Given the description of an element on the screen output the (x, y) to click on. 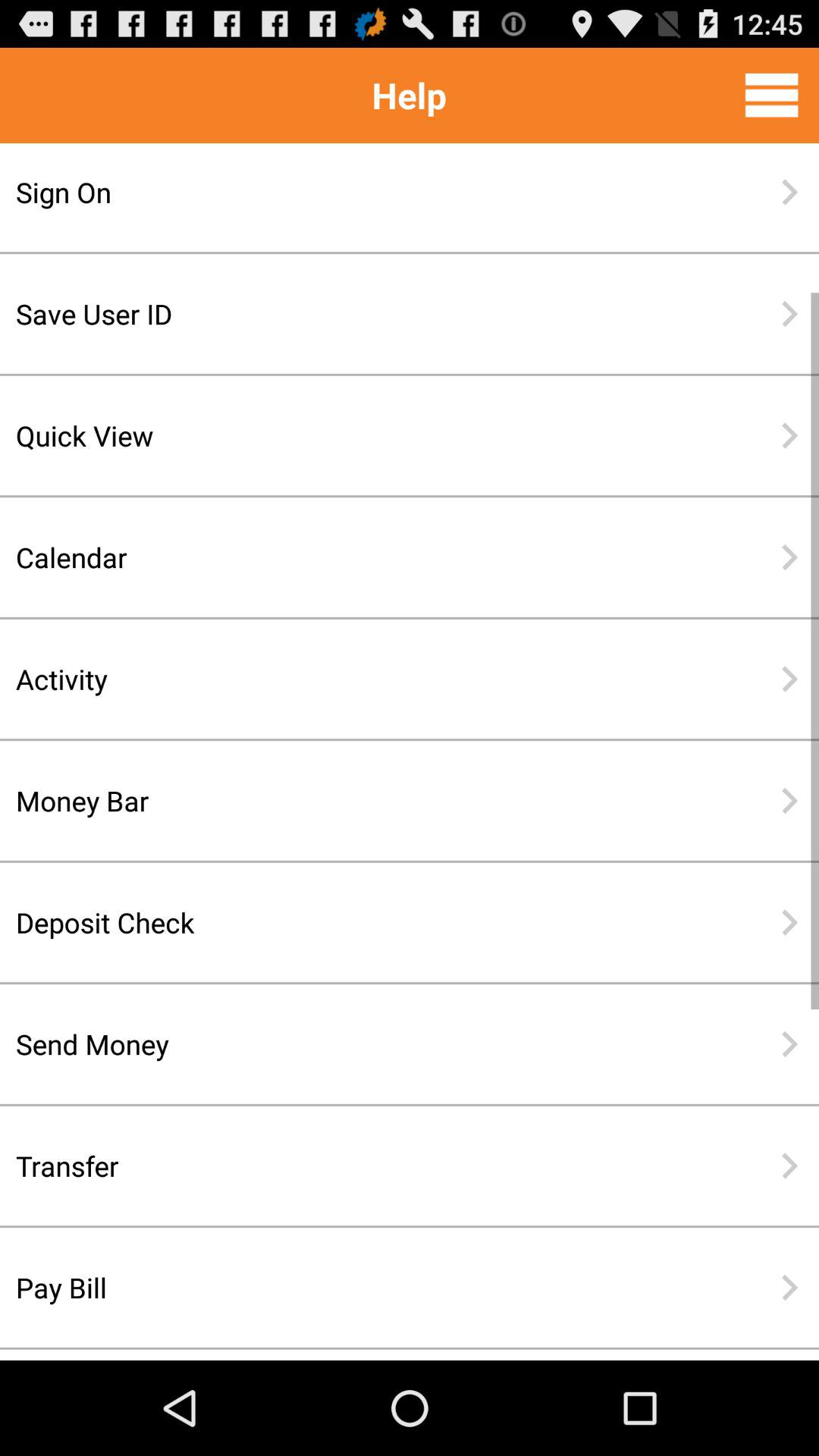
click on next icon right to sign on (789, 192)
